Given the description of an element on the screen output the (x, y) to click on. 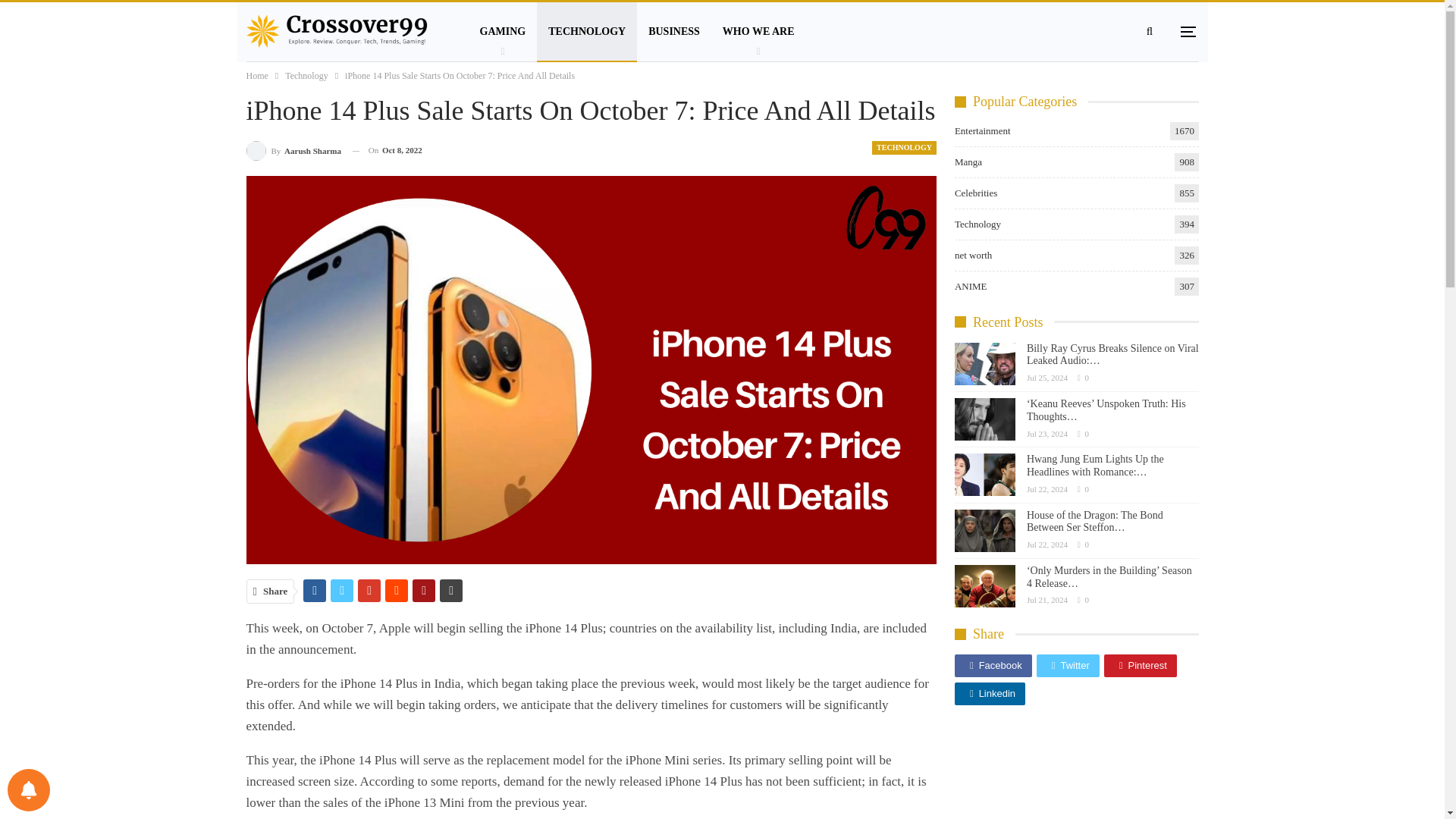
Browse Author Articles (293, 150)
BUSINESS (674, 31)
Home (256, 75)
By Aarush Sharma (293, 150)
Technology (306, 75)
GAMING (502, 31)
TECHNOLOGY (904, 147)
TECHNOLOGY (587, 31)
WHO WE ARE (758, 31)
